Given the description of an element on the screen output the (x, y) to click on. 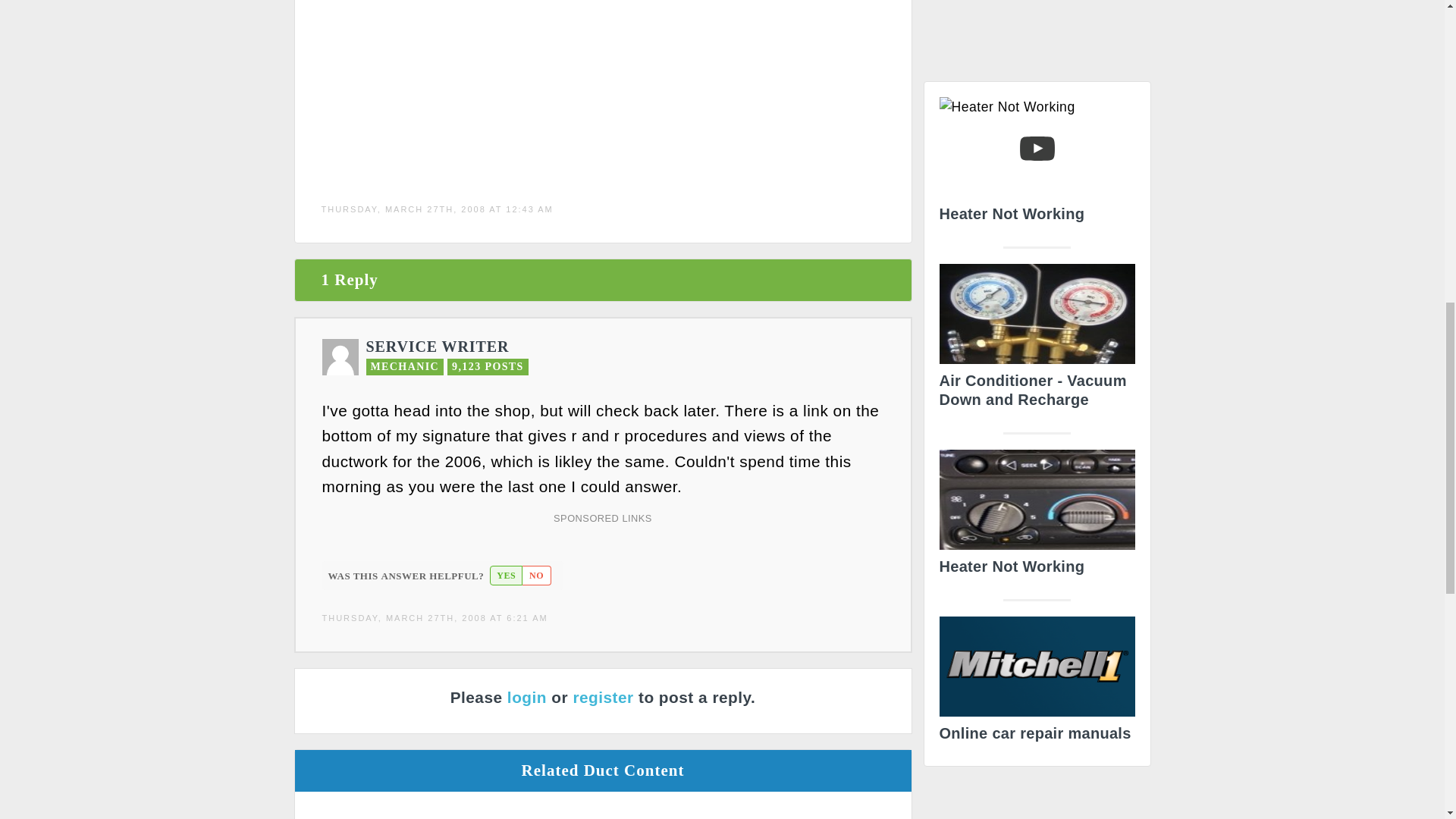
Air Conditioner - Vacuum Down and Recharge (1036, 339)
Advertisement (1037, 34)
login (526, 696)
Car Manual (1036, 683)
Advertisement (481, 86)
register (602, 696)
Heater Not Working (1036, 516)
